Given the description of an element on the screen output the (x, y) to click on. 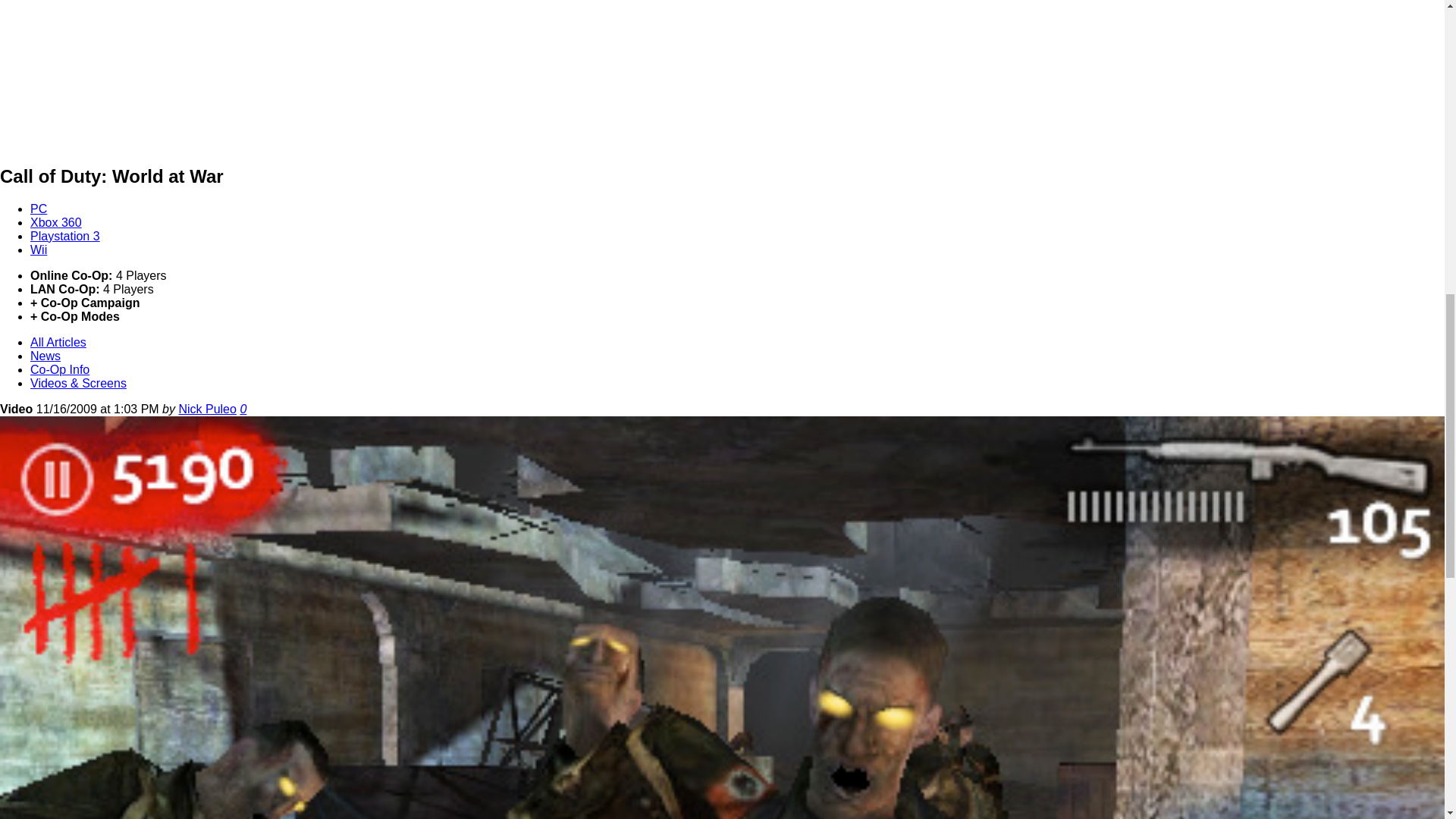
Co-Op Info (59, 369)
Xbox 360 (55, 222)
Playstation 3 (65, 236)
All Articles (57, 341)
Wii (38, 249)
PC (38, 208)
News (45, 355)
